Given the description of an element on the screen output the (x, y) to click on. 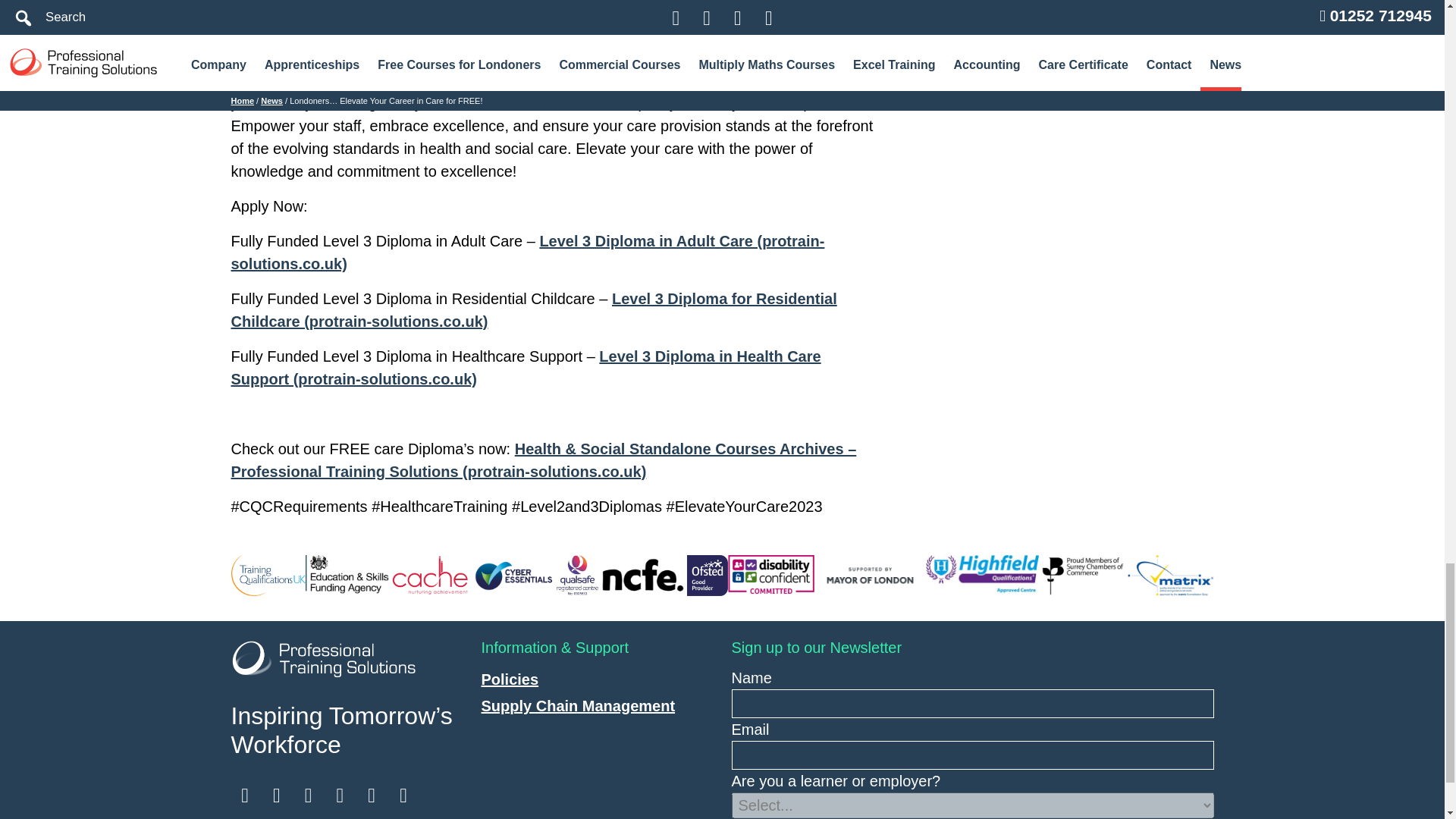
Follow us on Twitter (307, 794)
Follow us on Facebook (402, 794)
Follow us on Instagram (371, 794)
Link up with us on LinkedIn (339, 794)
Find out more about us on Vimeo (244, 794)
Find out more about us on YouTube (275, 794)
